Given the description of an element on the screen output the (x, y) to click on. 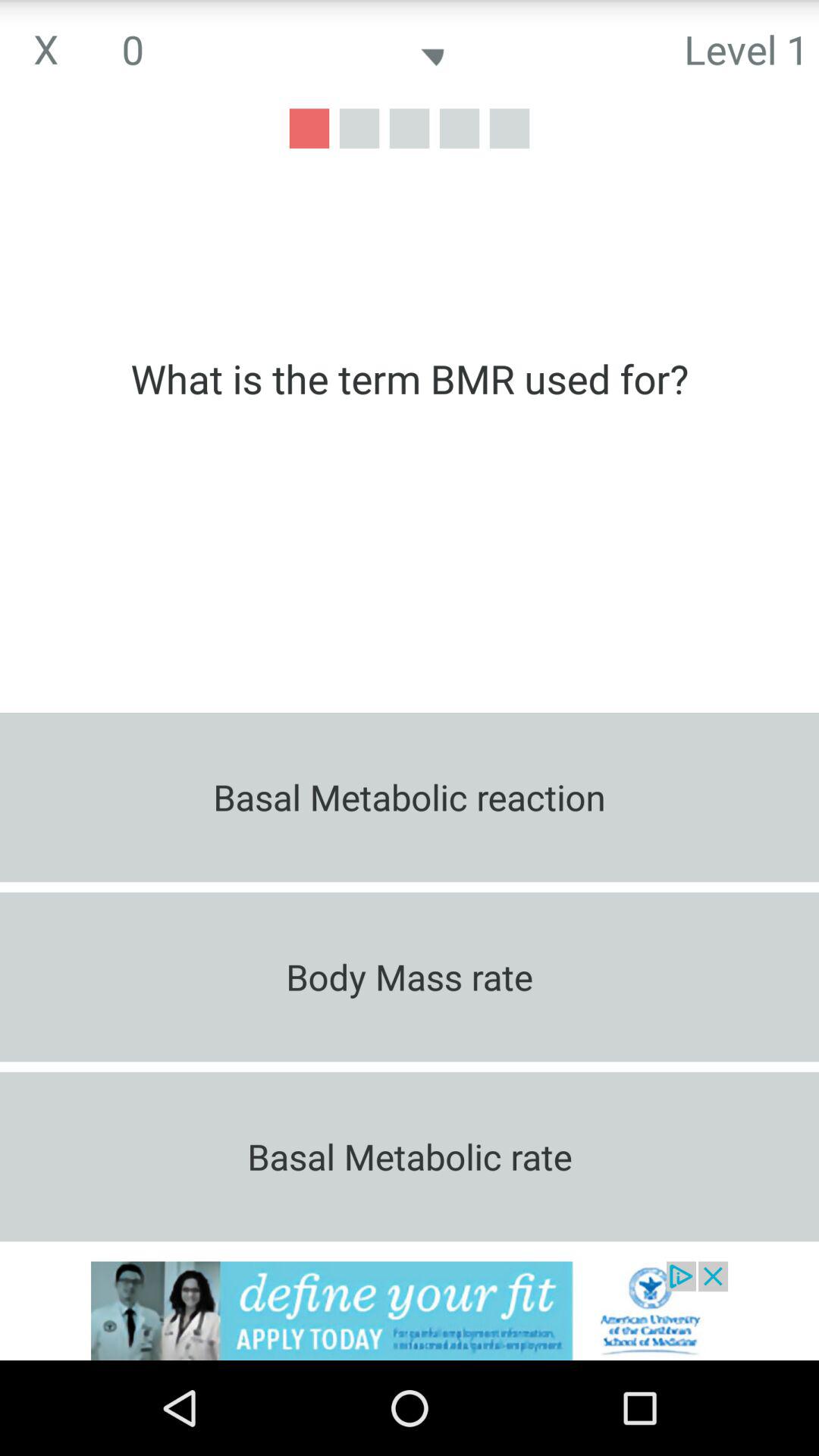
view advertisement (409, 1310)
